Given the description of an element on the screen output the (x, y) to click on. 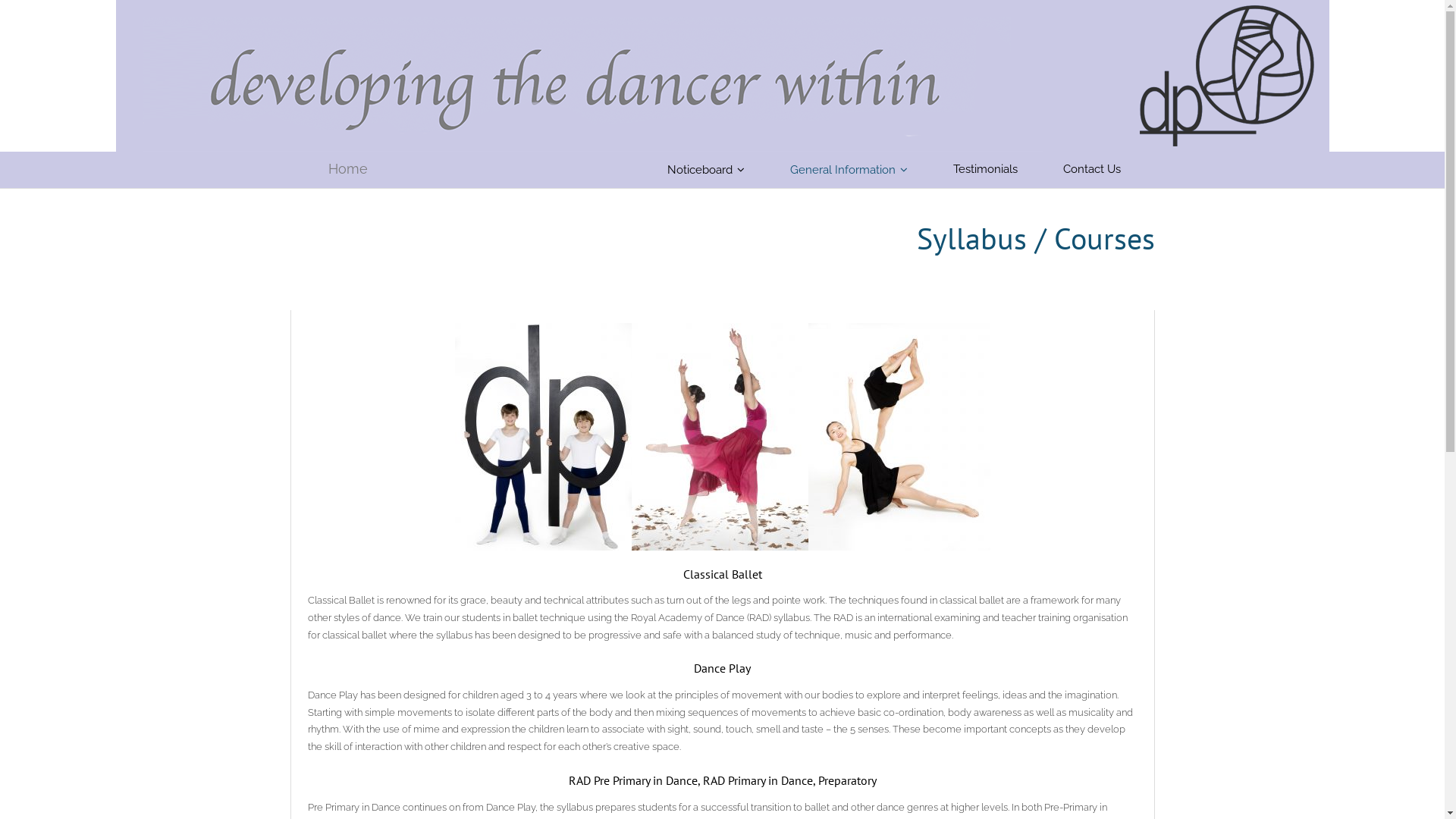
Contact Us Element type: text (1102, 169)
General Information Element type: text (859, 169)
Home Element type: text (328, 168)
Noticeboard Element type: text (716, 169)
Testimonials Element type: text (996, 169)
